Given the description of an element on the screen output the (x, y) to click on. 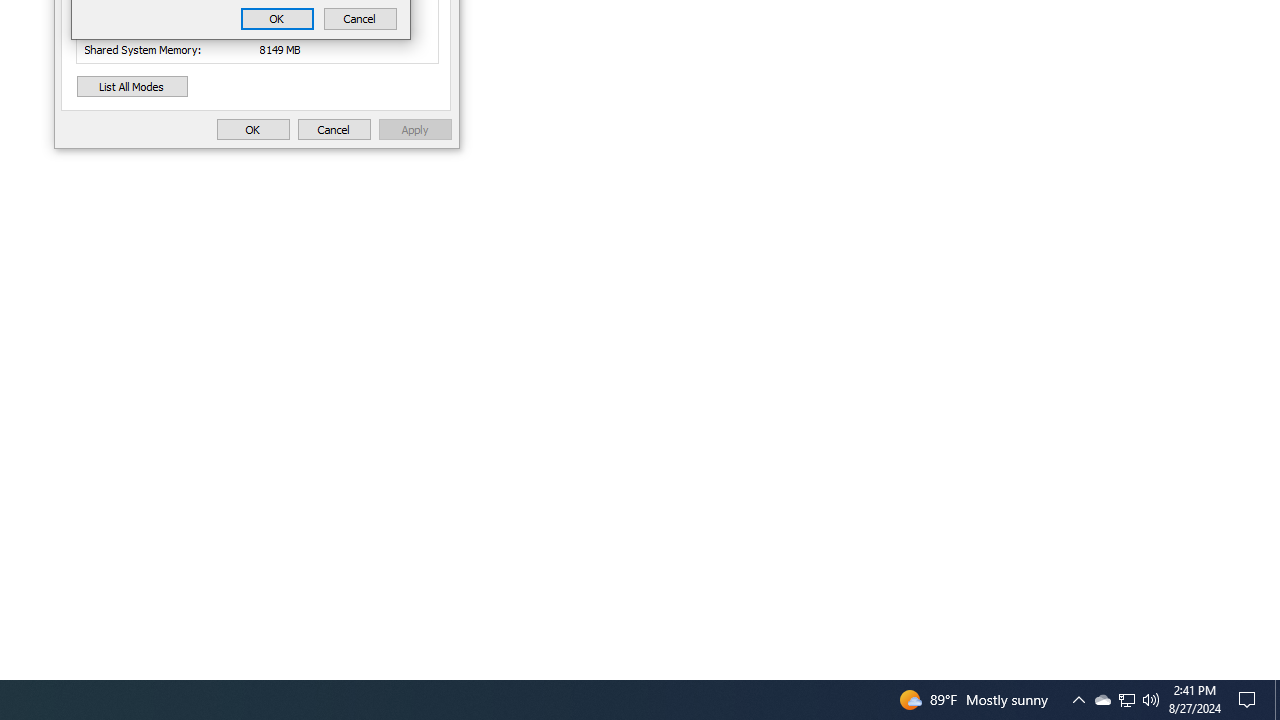
User Promoted Notification Area (1126, 699)
Notification Chevron (1126, 699)
Action Center, No new notifications (1078, 699)
OK (1250, 699)
Q2790: 100% (1102, 699)
Show desktop (277, 18)
Cancel (1151, 699)
